Given the description of an element on the screen output the (x, y) to click on. 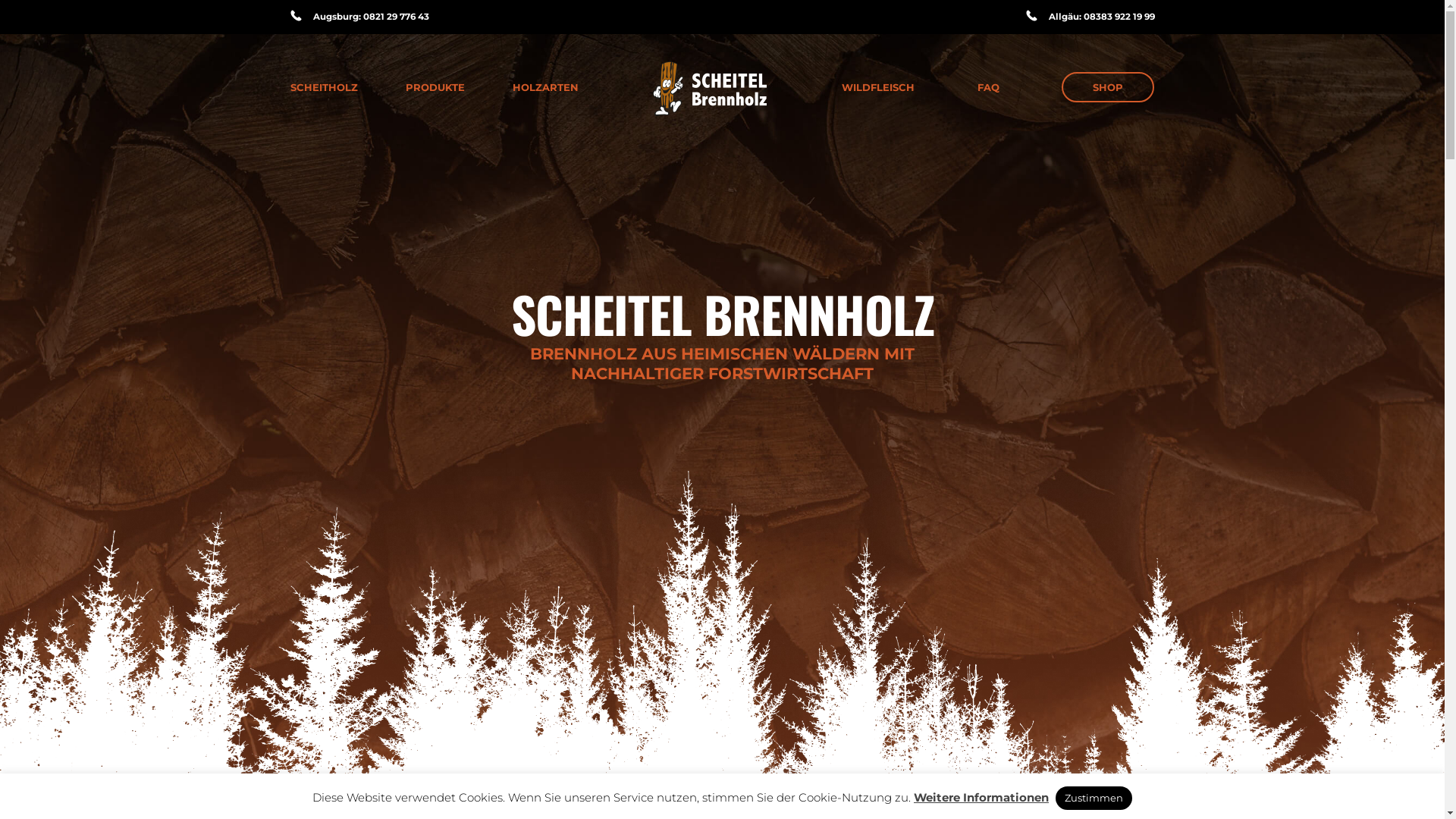
0821 29 776 43 Element type: text (395, 16)
WILDFLEISCH Element type: text (877, 87)
PRODUKTE Element type: text (434, 87)
08383 922 19 99 Element type: text (1118, 16)
SHOP Element type: text (1107, 87)
SCHEITHOLZ Element type: text (323, 87)
Zustimmen Element type: text (1093, 797)
Weitere Informationen Element type: text (980, 797)
FAQ Element type: text (988, 87)
HOLZARTEN Element type: text (545, 87)
